Given the description of an element on the screen output the (x, y) to click on. 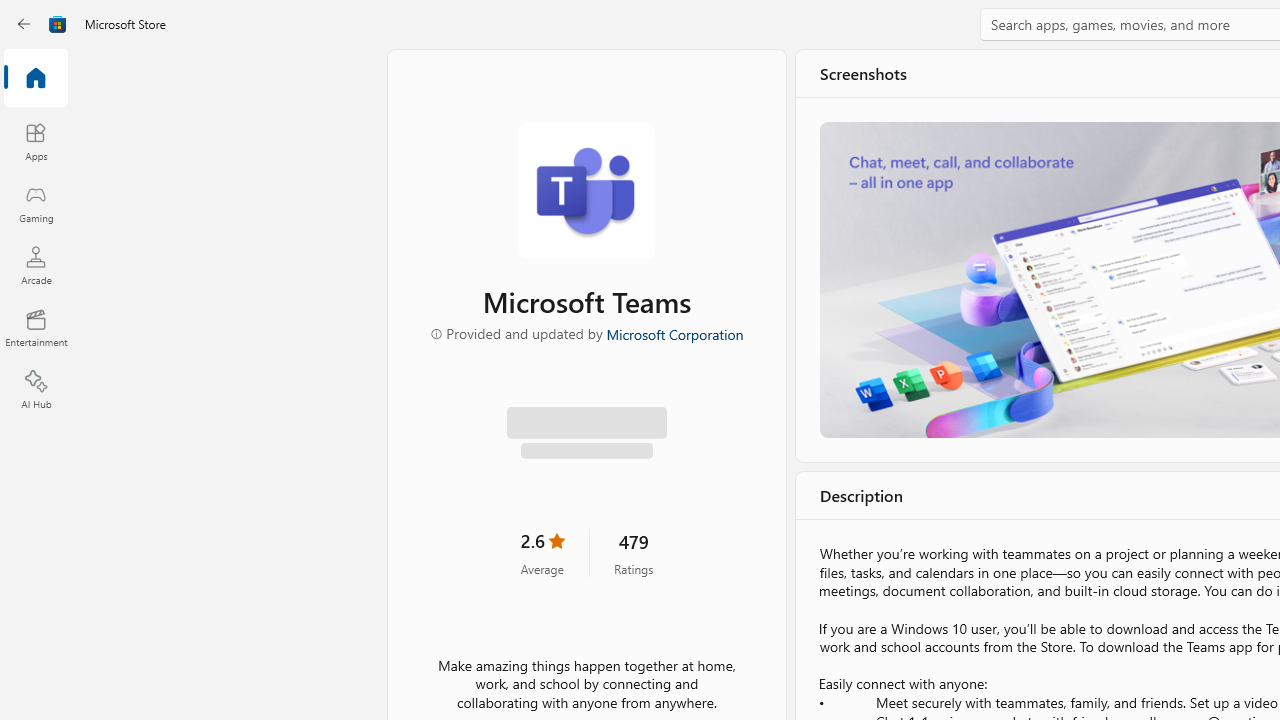
Apps (35, 141)
Arcade (35, 265)
Entertainment (35, 327)
Home (35, 79)
Microsoft Corporation (673, 333)
Gaming (35, 203)
Class: Image (58, 24)
AI Hub (35, 390)
Back (24, 24)
2.6 stars. Click to skip to ratings and reviews (542, 551)
